Given the description of an element on the screen output the (x, y) to click on. 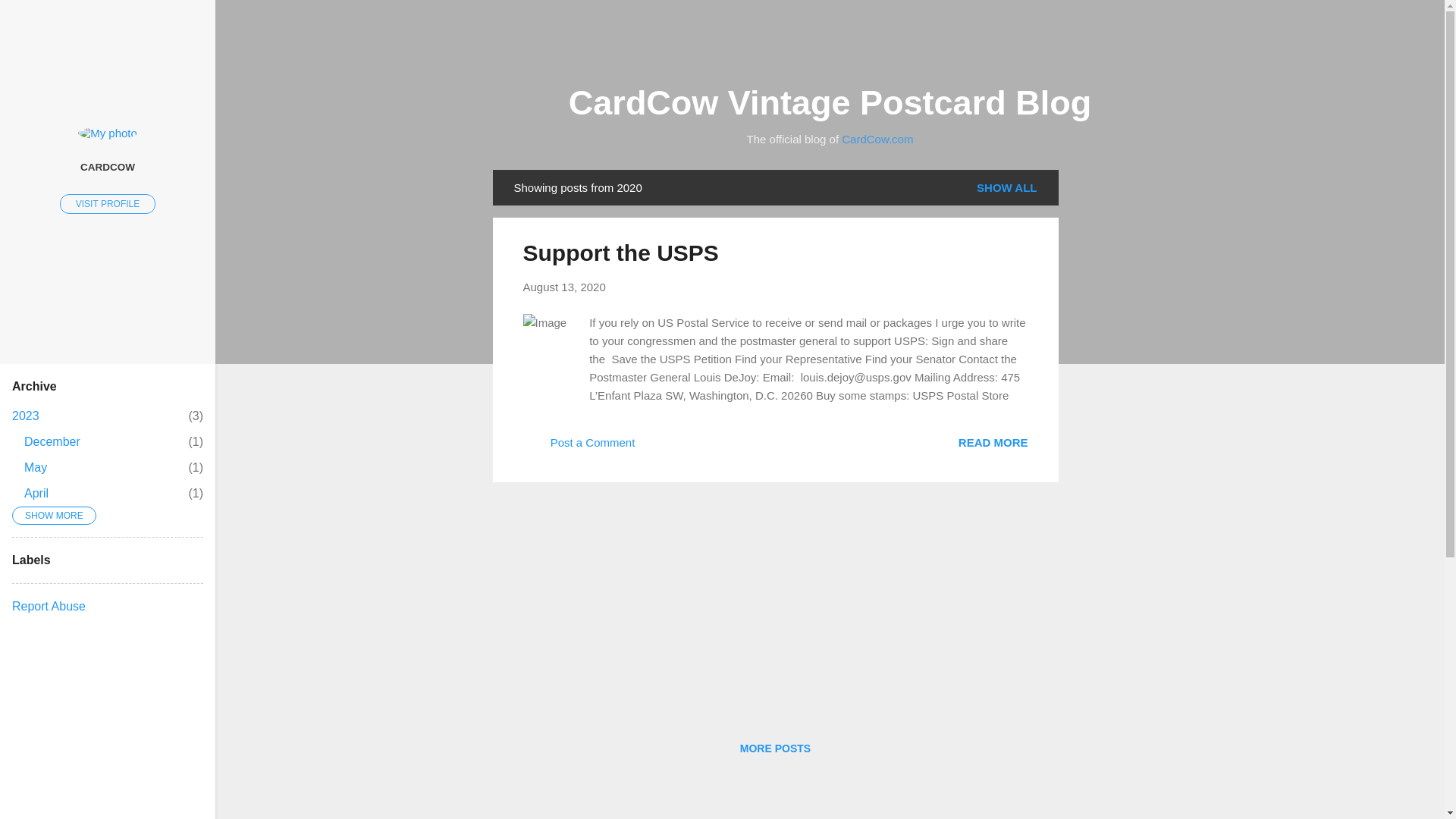
permanent link (563, 286)
CARDCOW (107, 166)
Support the USPS (992, 440)
Search (29, 18)
CardCow Vintage Postcard Blog (35, 467)
Post a Comment (829, 102)
More posts (578, 447)
VISIT PROFILE (25, 415)
Support the USPS (774, 748)
MORE POSTS (36, 492)
CardCow.com (107, 203)
August 13, 2020 (620, 252)
